Given the description of an element on the screen output the (x, y) to click on. 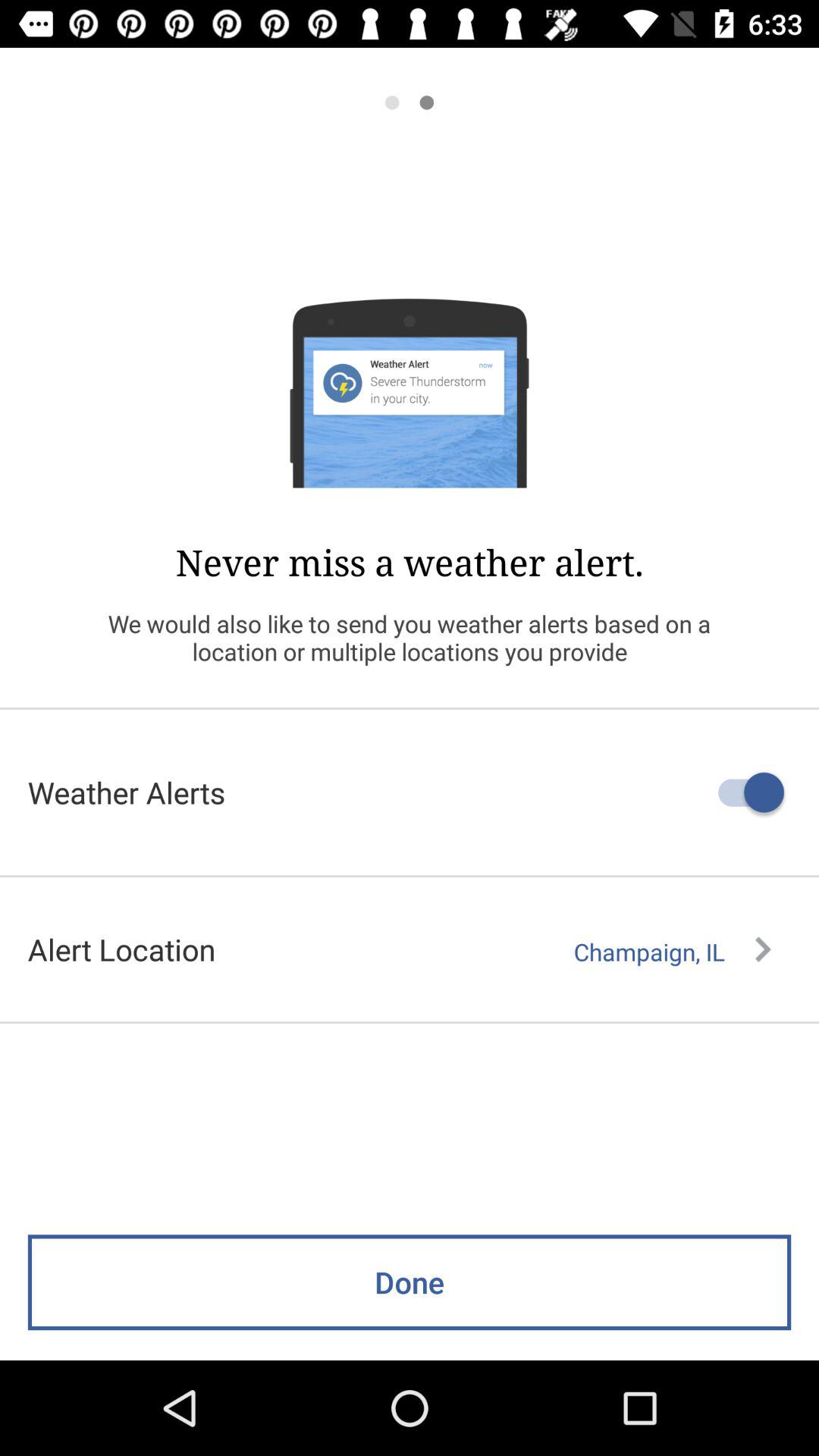
select item next to alert location item (672, 951)
